Given the description of an element on the screen output the (x, y) to click on. 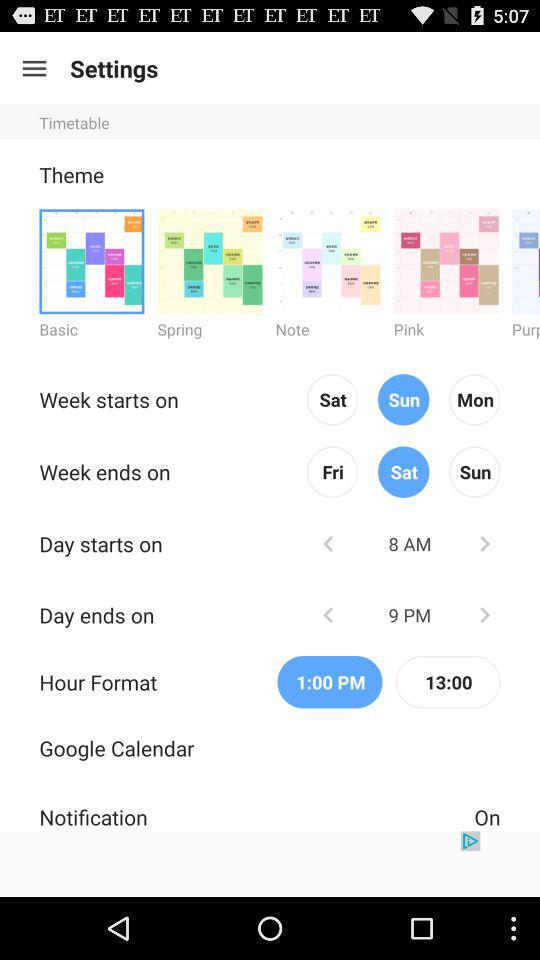
spring theme (209, 260)
